Given the description of an element on the screen output the (x, y) to click on. 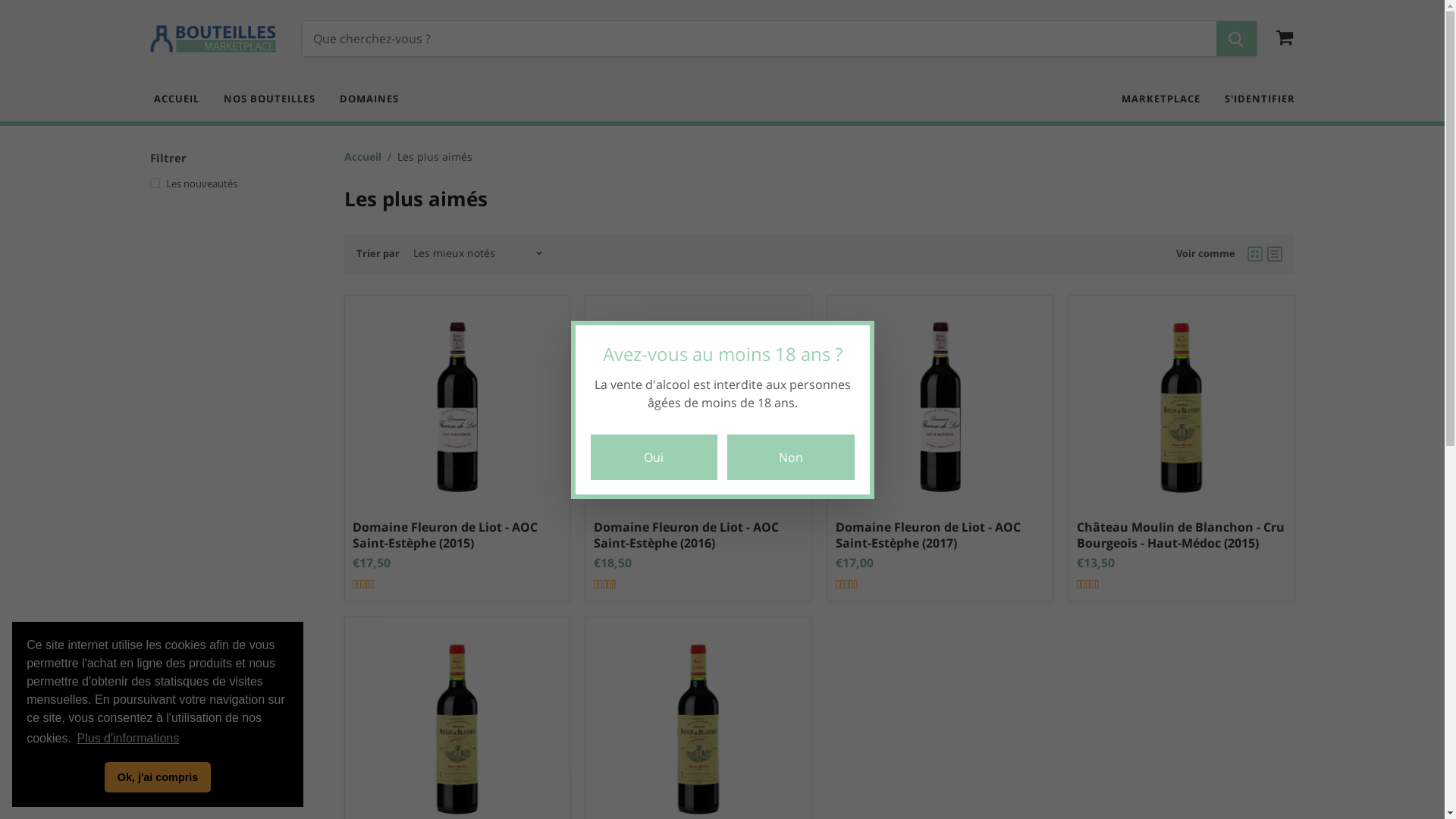
ACCUEIL Element type: text (180, 98)
Plus d'informations Element type: text (127, 738)
DOMAINES Element type: text (362, 98)
Ok, j'ai compris Element type: text (157, 777)
Oui Element type: text (652, 456)
Non Element type: text (790, 456)
MARKETPLACE Element type: text (1164, 98)
NOS BOUTEILLES Element type: text (269, 98)
Accueil Element type: text (362, 156)
S'IDENTIFIER Element type: text (1254, 98)
